Given the description of an element on the screen output the (x, y) to click on. 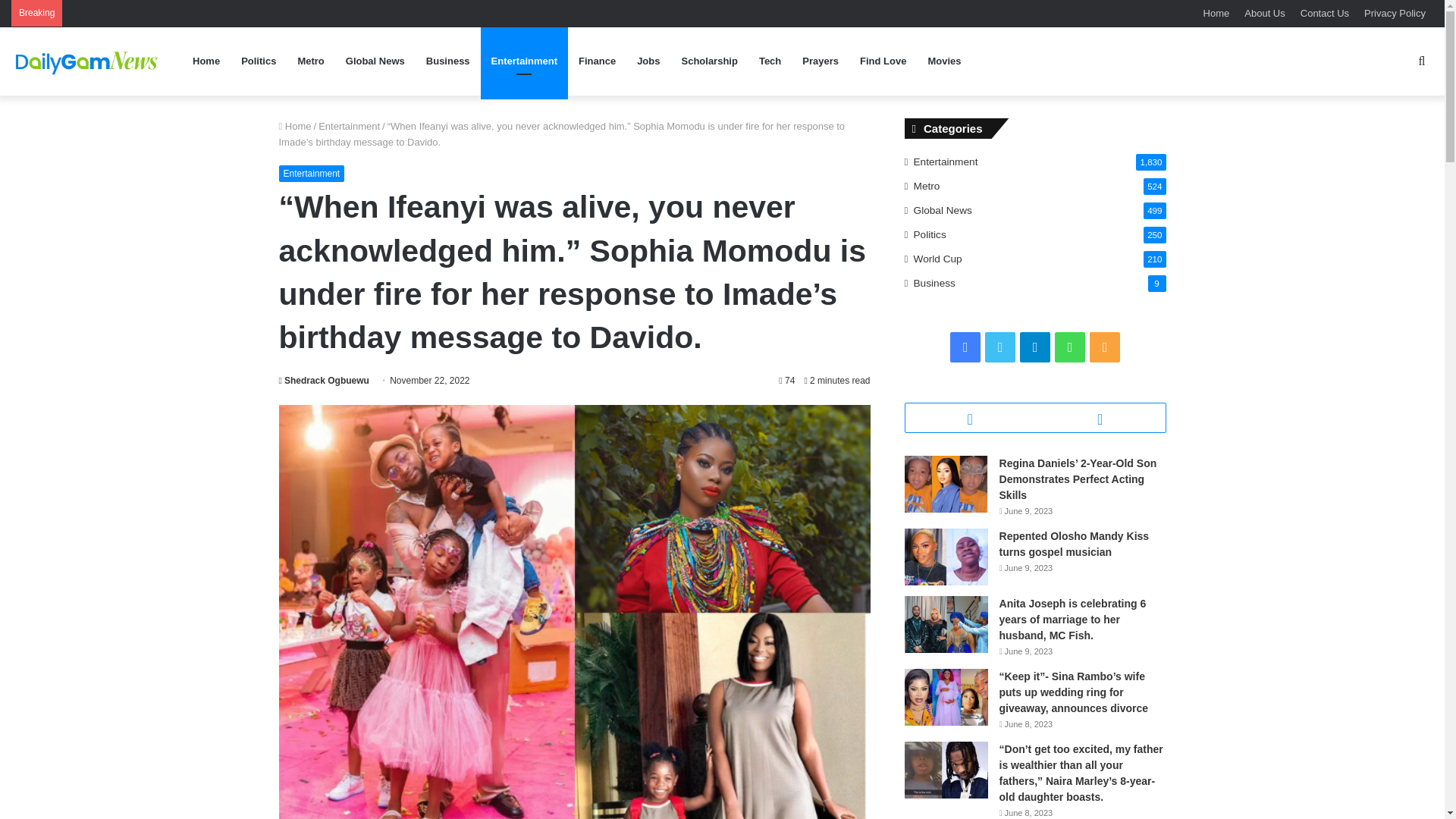
Entertainment (312, 173)
Find Love (882, 61)
About Us (1264, 13)
Entertainment (523, 61)
DailyGam News (87, 60)
Home (295, 125)
Shedrack Ogbuewu (324, 380)
Home (1216, 13)
Privacy Policy (1394, 13)
Scholarship (708, 61)
